Given the description of an element on the screen output the (x, y) to click on. 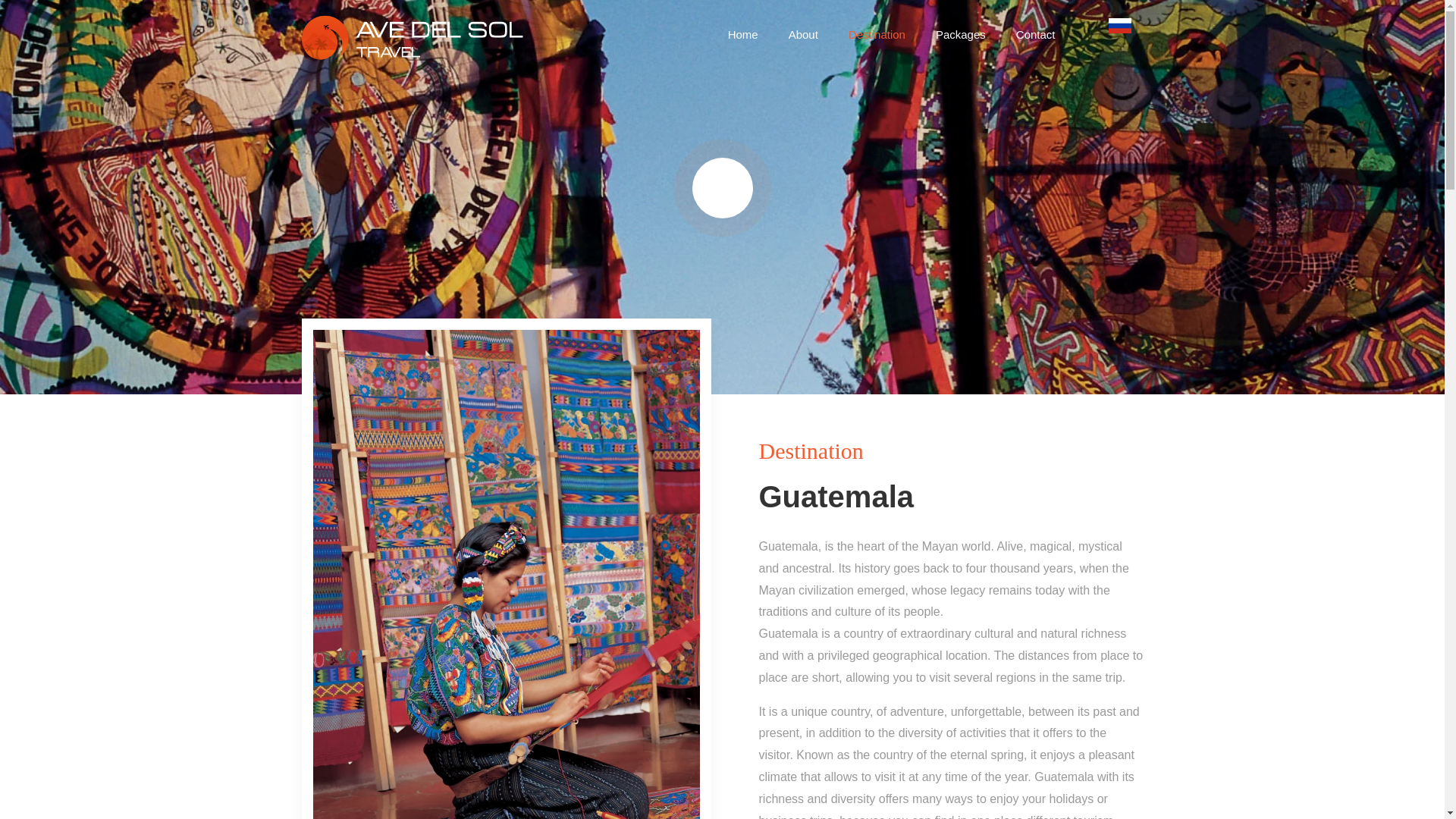
Destination (876, 34)
Contact (1035, 34)
Home (743, 34)
Packages (960, 34)
About (802, 34)
